Given the description of an element on the screen output the (x, y) to click on. 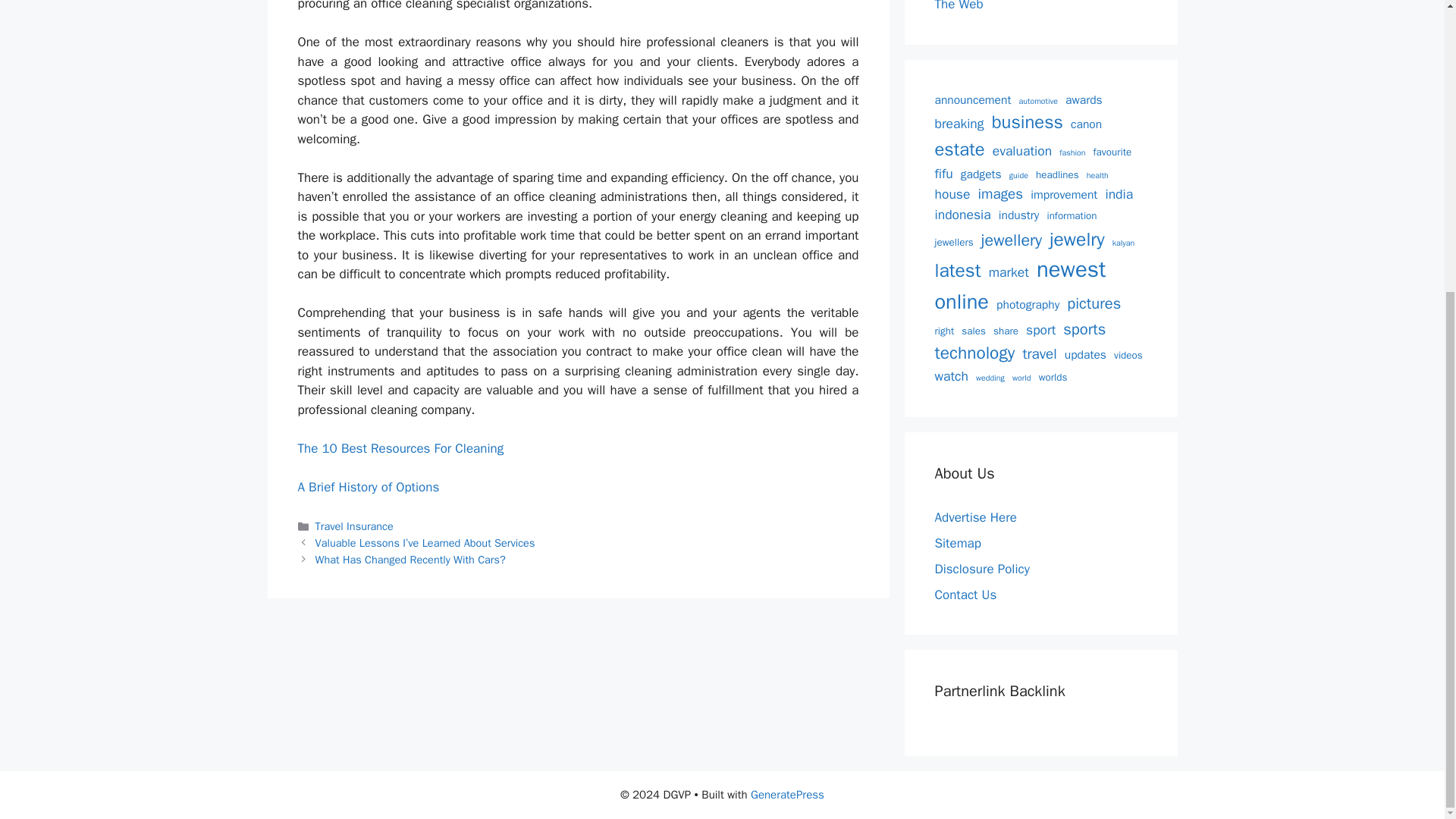
evaluation (1021, 150)
estate (959, 149)
business (1026, 122)
improvement (1063, 194)
The 10 Best Resources For Cleaning (400, 448)
How To Find Cheap Journey Deals On The Web (1038, 6)
A Brief History of Options (368, 487)
guide (1018, 175)
announcement (972, 99)
fifu (943, 173)
gadgets (980, 174)
Travel Insurance (354, 526)
images (999, 193)
health (1097, 175)
house (951, 193)
